Given the description of an element on the screen output the (x, y) to click on. 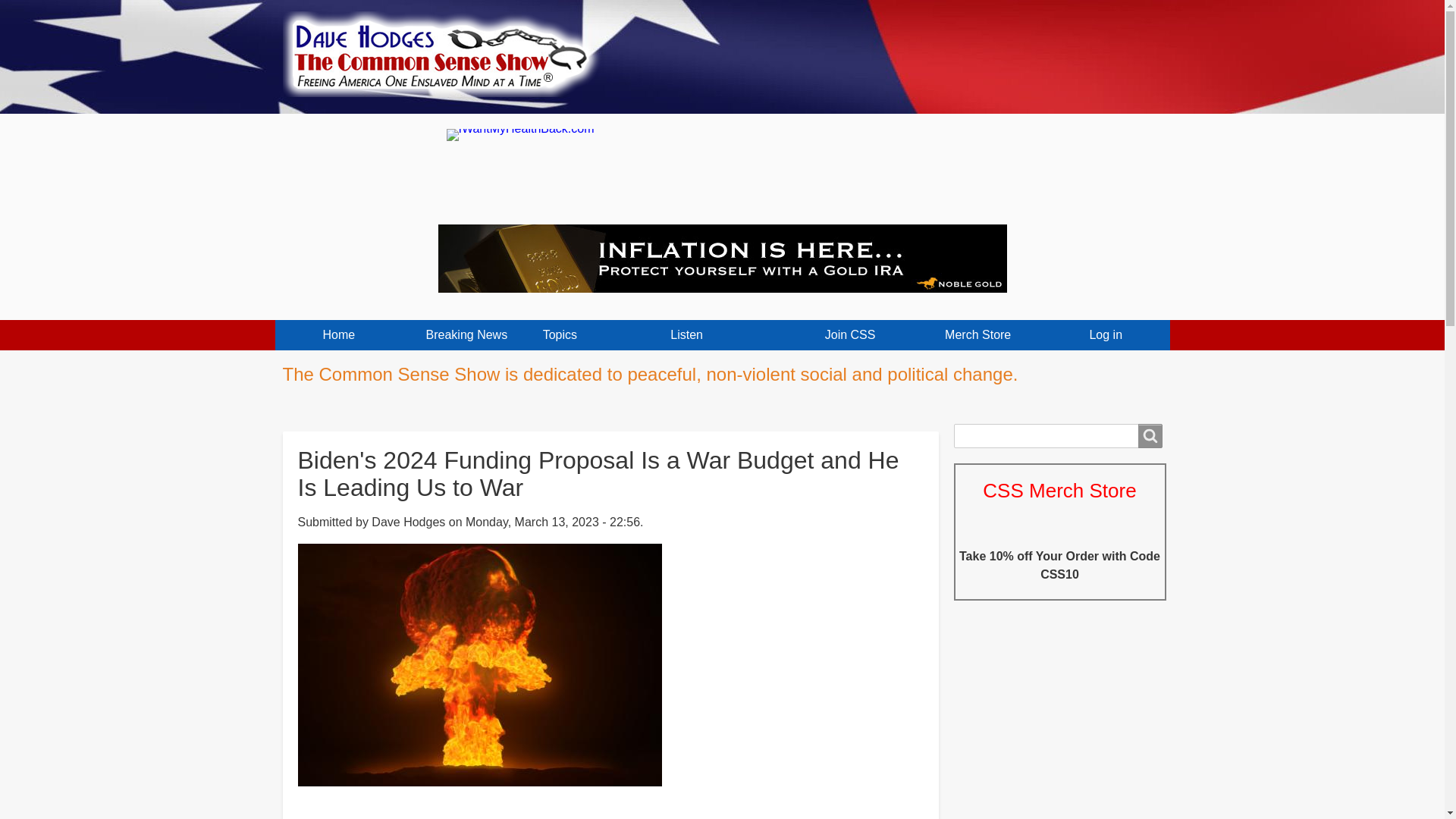
Home (447, 48)
Join CSS (850, 335)
Breaking News (467, 335)
Noble Gold (721, 258)
Search (1149, 435)
Home (339, 335)
Search (1149, 435)
Merch Store (978, 335)
Log in (1106, 335)
